Given the description of an element on the screen output the (x, y) to click on. 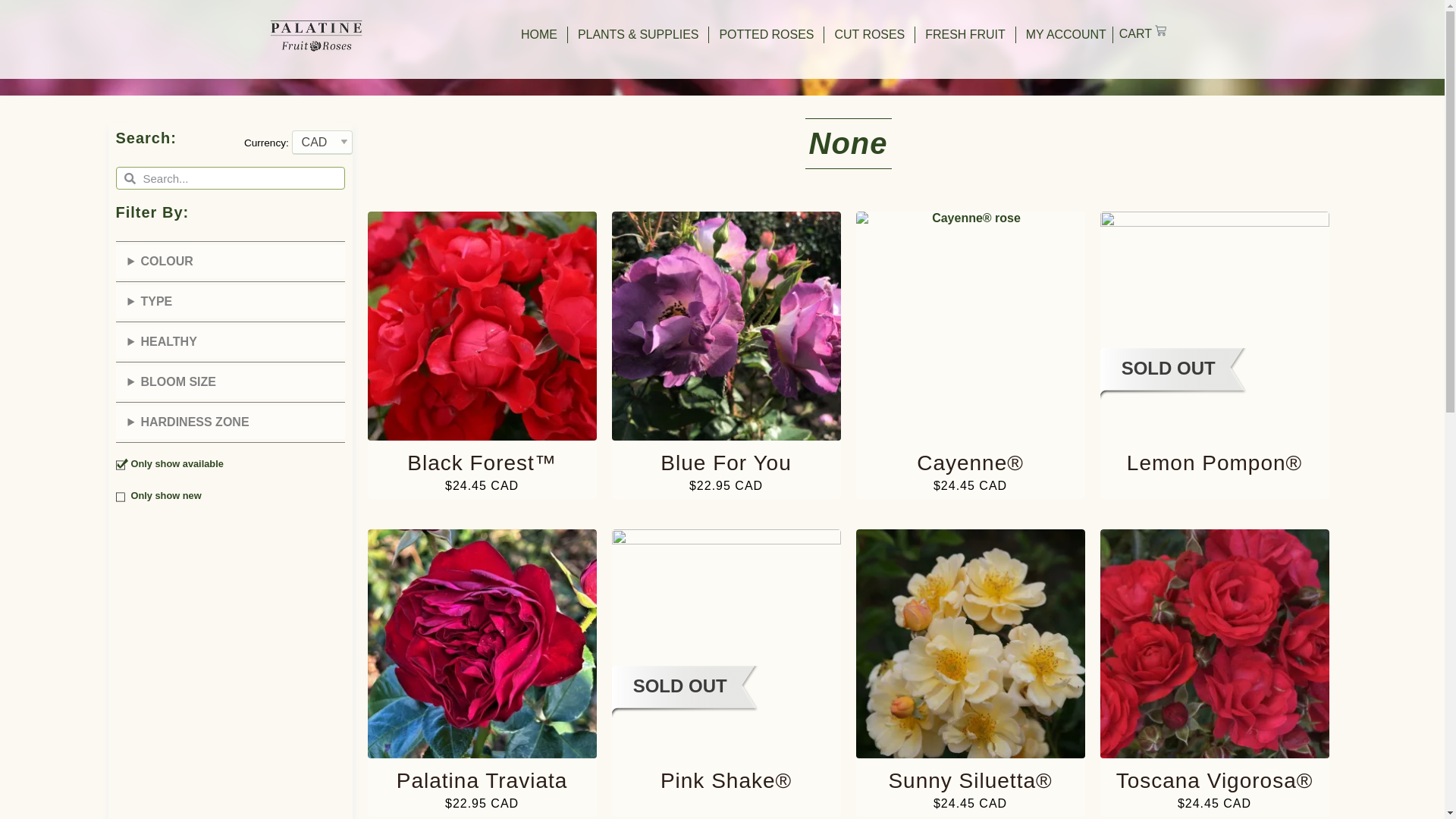
MY ACCOUNT (1066, 34)
CUT ROSES (869, 34)
POTTED ROSES (766, 34)
HOME (539, 34)
FRESH FRUIT (964, 34)
